Given the description of an element on the screen output the (x, y) to click on. 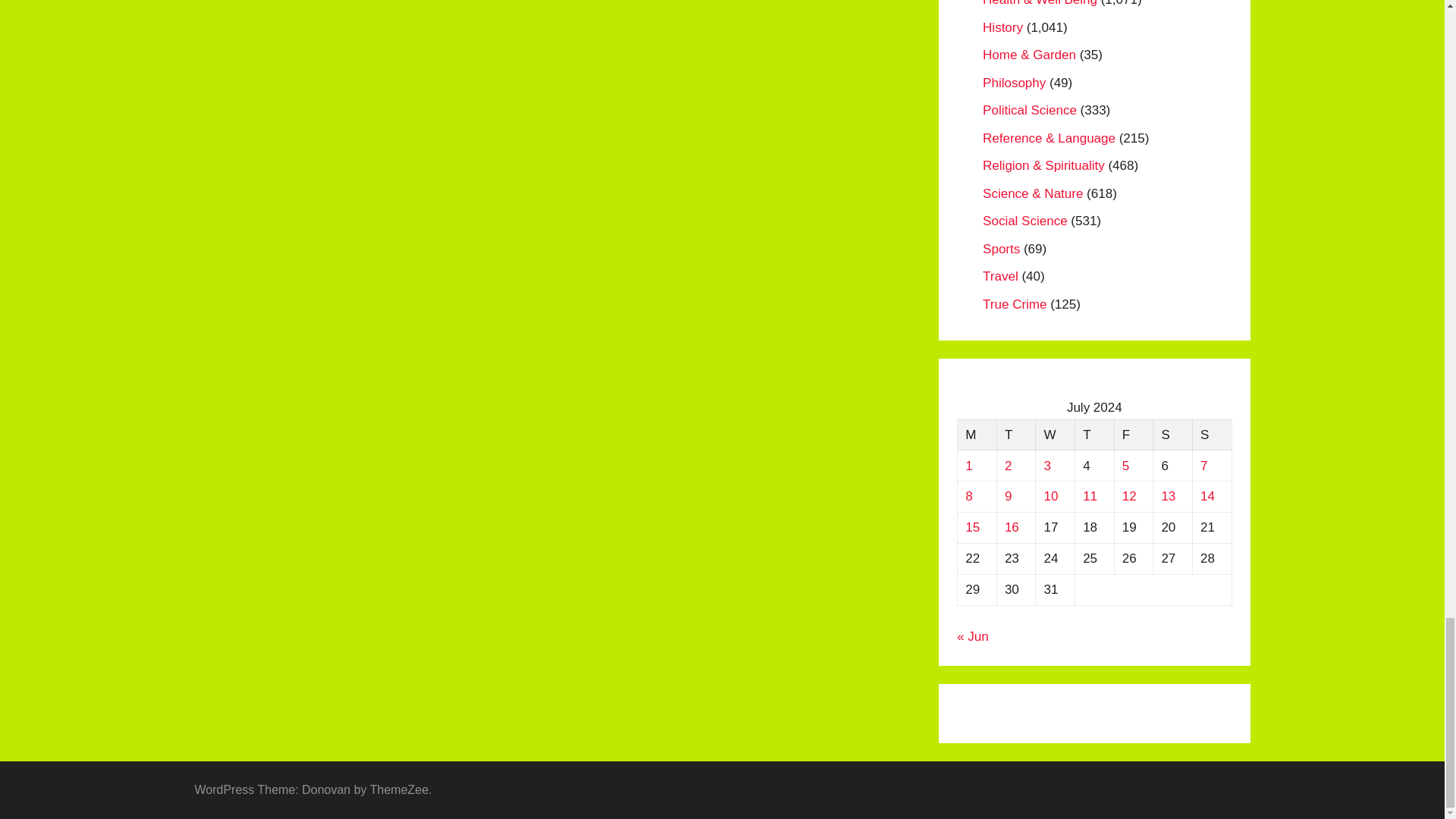
Friday (1133, 434)
Tuesday (1015, 434)
Thursday (1093, 434)
Saturday (1172, 434)
Monday (977, 434)
Sunday (1211, 434)
Wednesday (1055, 434)
